Given the description of an element on the screen output the (x, y) to click on. 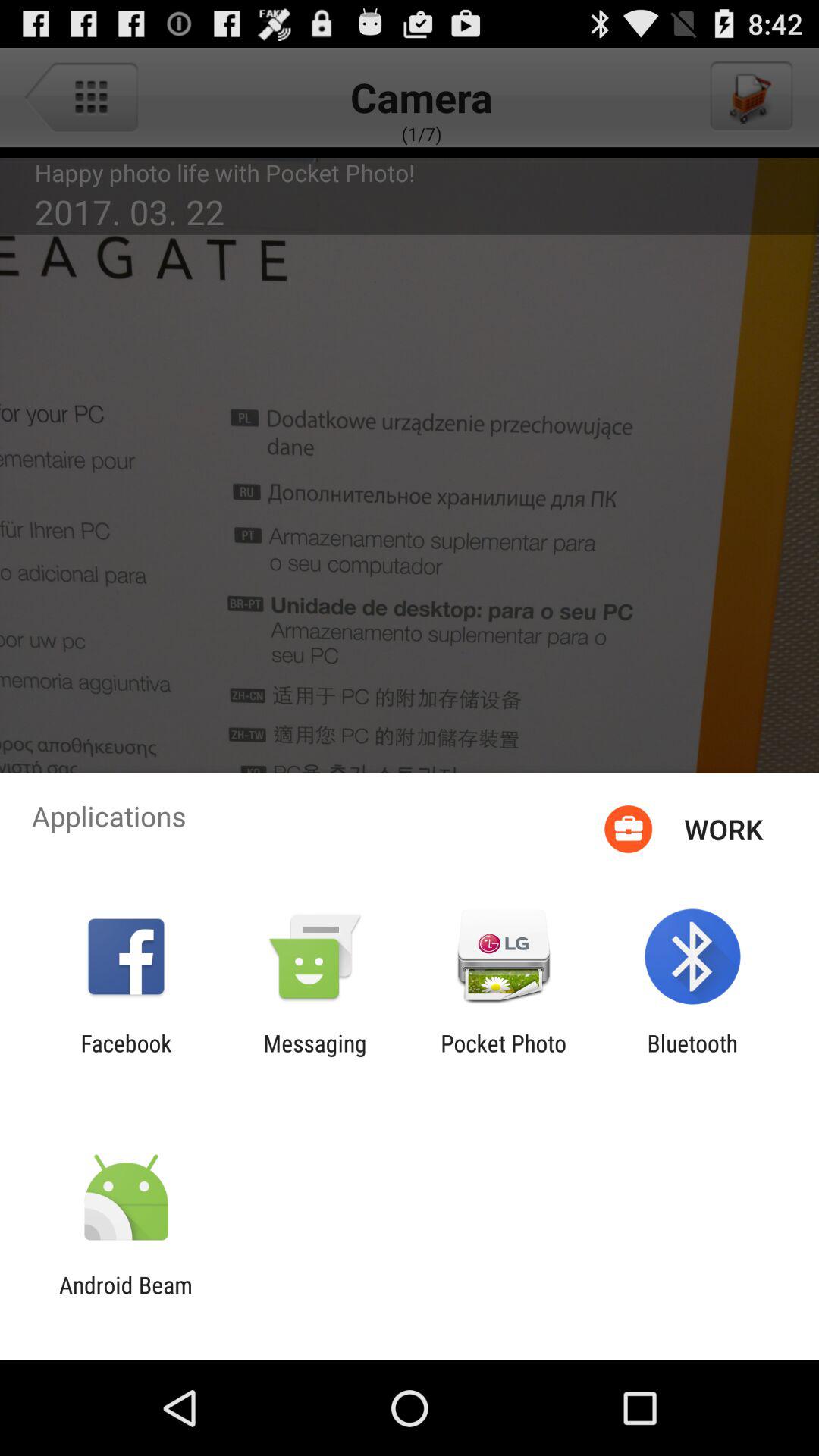
flip to facebook app (125, 1056)
